Given the description of an element on the screen output the (x, y) to click on. 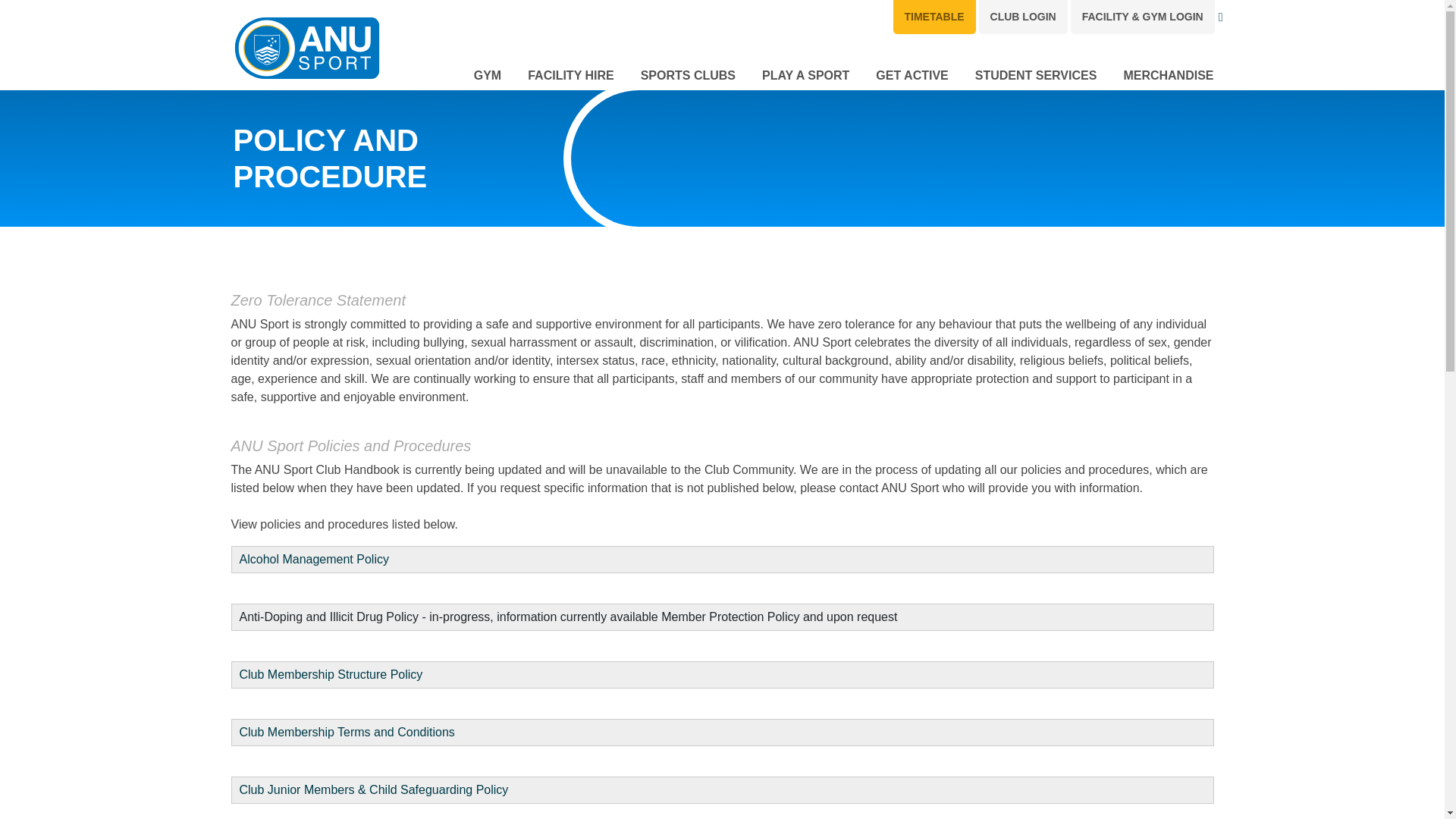
CLUB LOGIN (1022, 17)
SPORTS CLUBS (687, 72)
GYM (487, 72)
PLAY A SPORT (804, 72)
MERCHANDISE (1167, 72)
Club Membership Structure Policy (331, 674)
Back to homepage (305, 47)
TIMETABLE (934, 17)
FACILITY HIRE (570, 72)
GET ACTIVE (911, 72)
Club Membership Terms and Conditions (347, 731)
STUDENT SERVICES (1036, 72)
Alcohol Management Policy (314, 558)
